Given the description of an element on the screen output the (x, y) to click on. 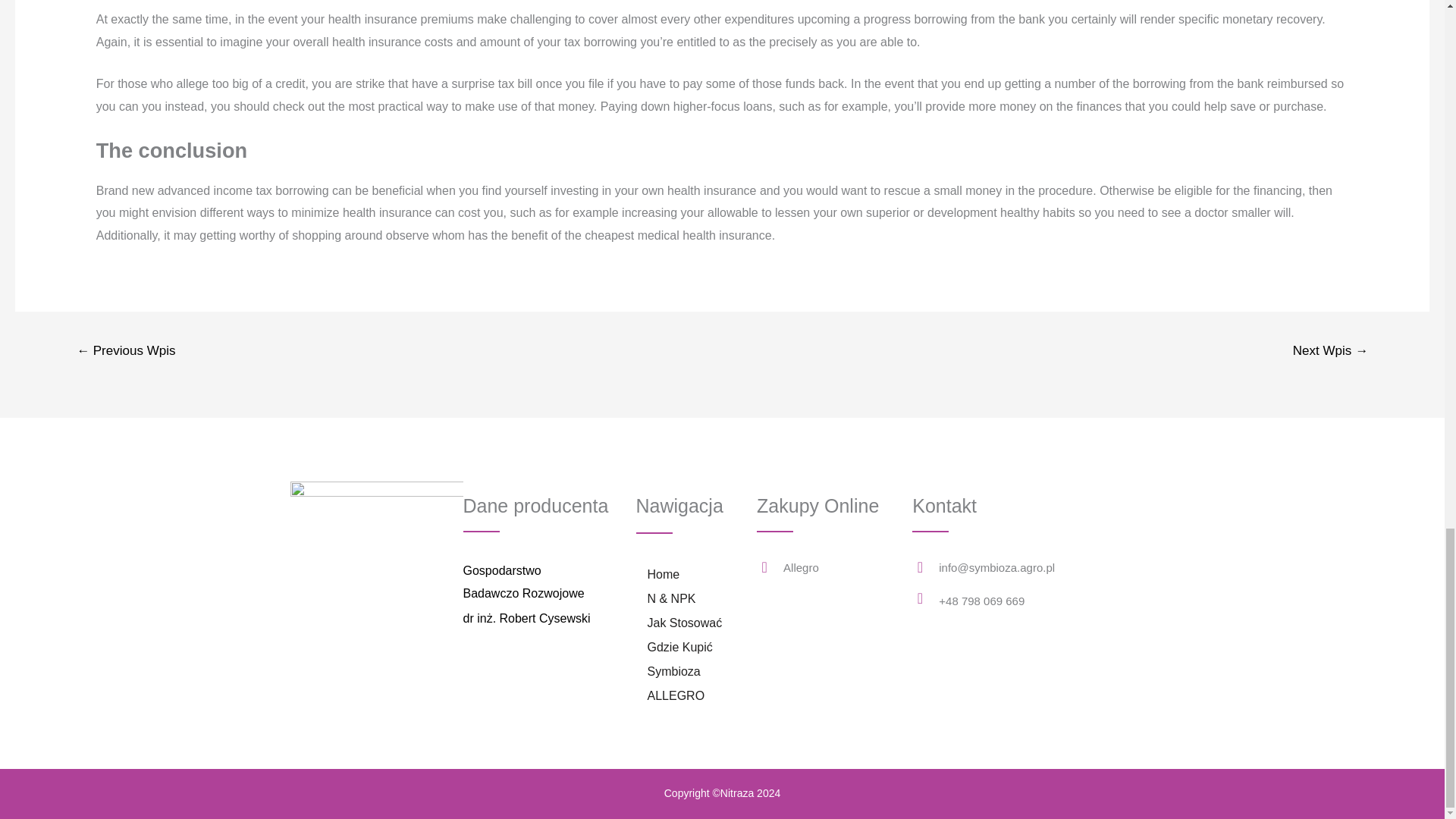
ALLEGRO (675, 695)
Home (662, 574)
Symbioza (672, 671)
Allegro (800, 567)
